Given the description of an element on the screen output the (x, y) to click on. 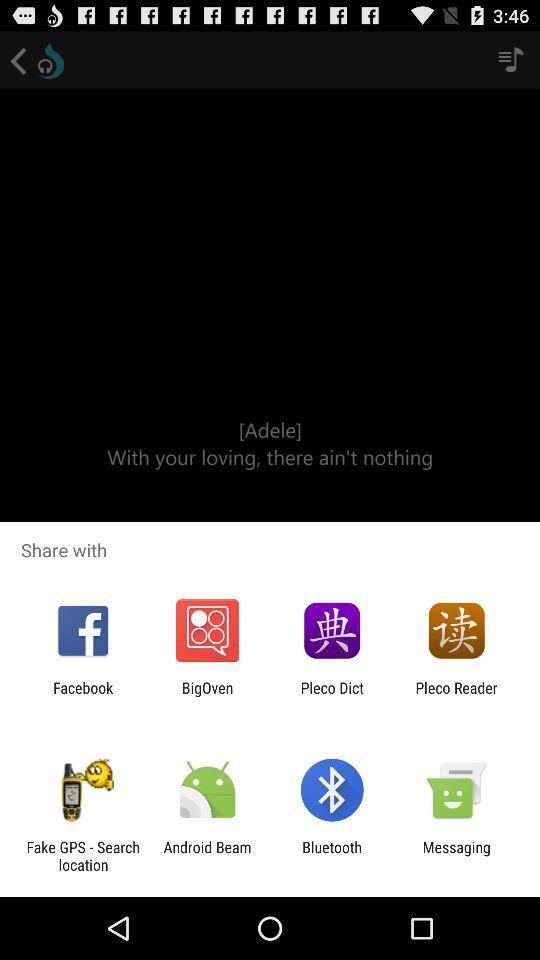
click the icon to the left of the bigoven item (83, 696)
